Given the description of an element on the screen output the (x, y) to click on. 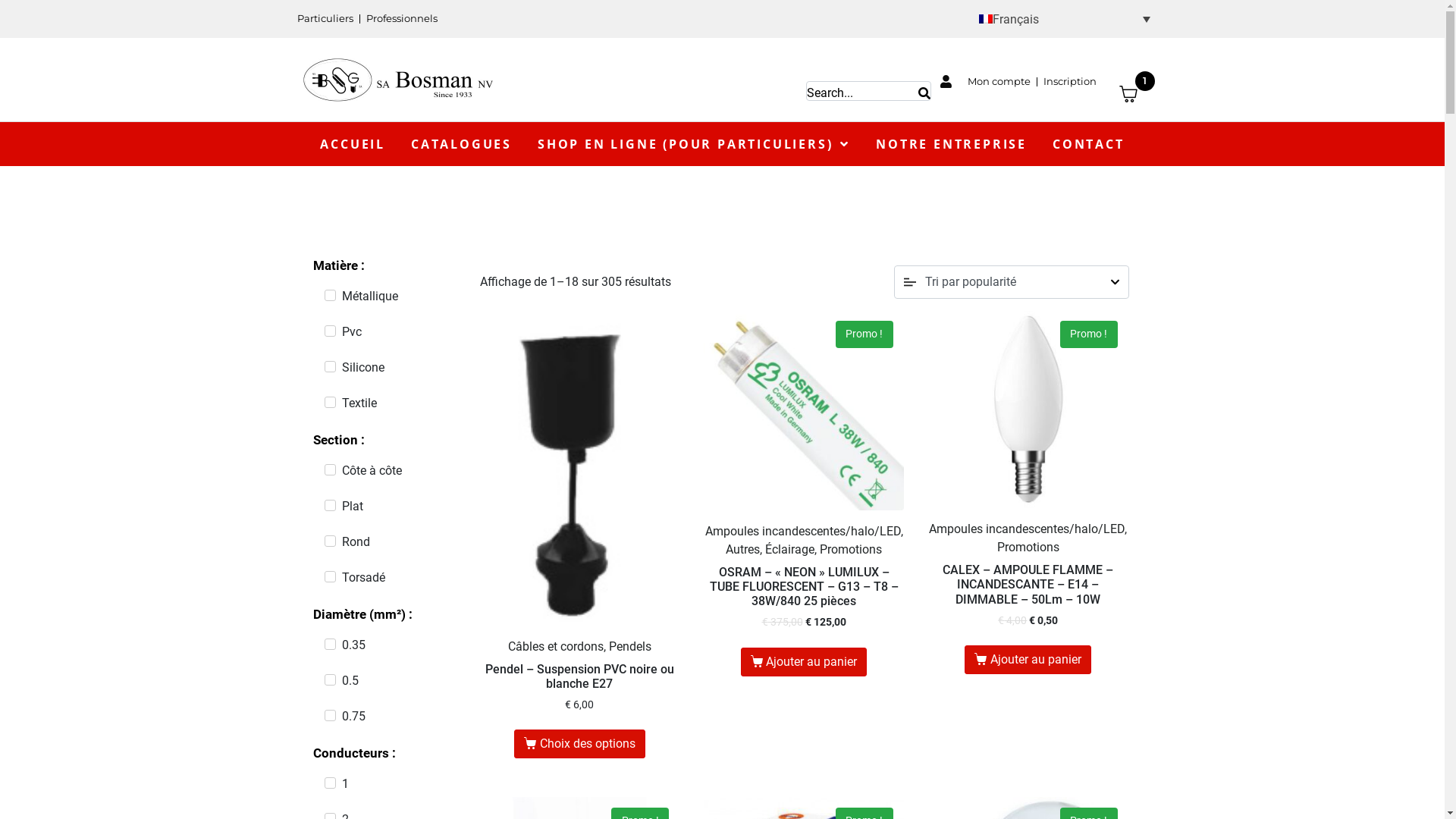
CATALOGUES Element type: text (461, 144)
Professionnels Element type: text (400, 18)
SHOP EN LIGNE (POUR PARTICULIERS) Element type: text (693, 144)
CONTACT Element type: text (1088, 144)
Ajouter au panier Element type: text (803, 661)
Inscription Element type: text (1069, 81)
Ajouter au panier Element type: text (1027, 659)
Particuliers Element type: text (319, 18)
NOTRE ENTREPRISE Element type: text (950, 144)
Choix des options Element type: text (579, 743)
ACCUEIL Element type: text (352, 144)
Mon compte Element type: text (984, 81)
1 Element type: text (1136, 93)
Home Element type: text (320, 63)
